Given the description of an element on the screen output the (x, y) to click on. 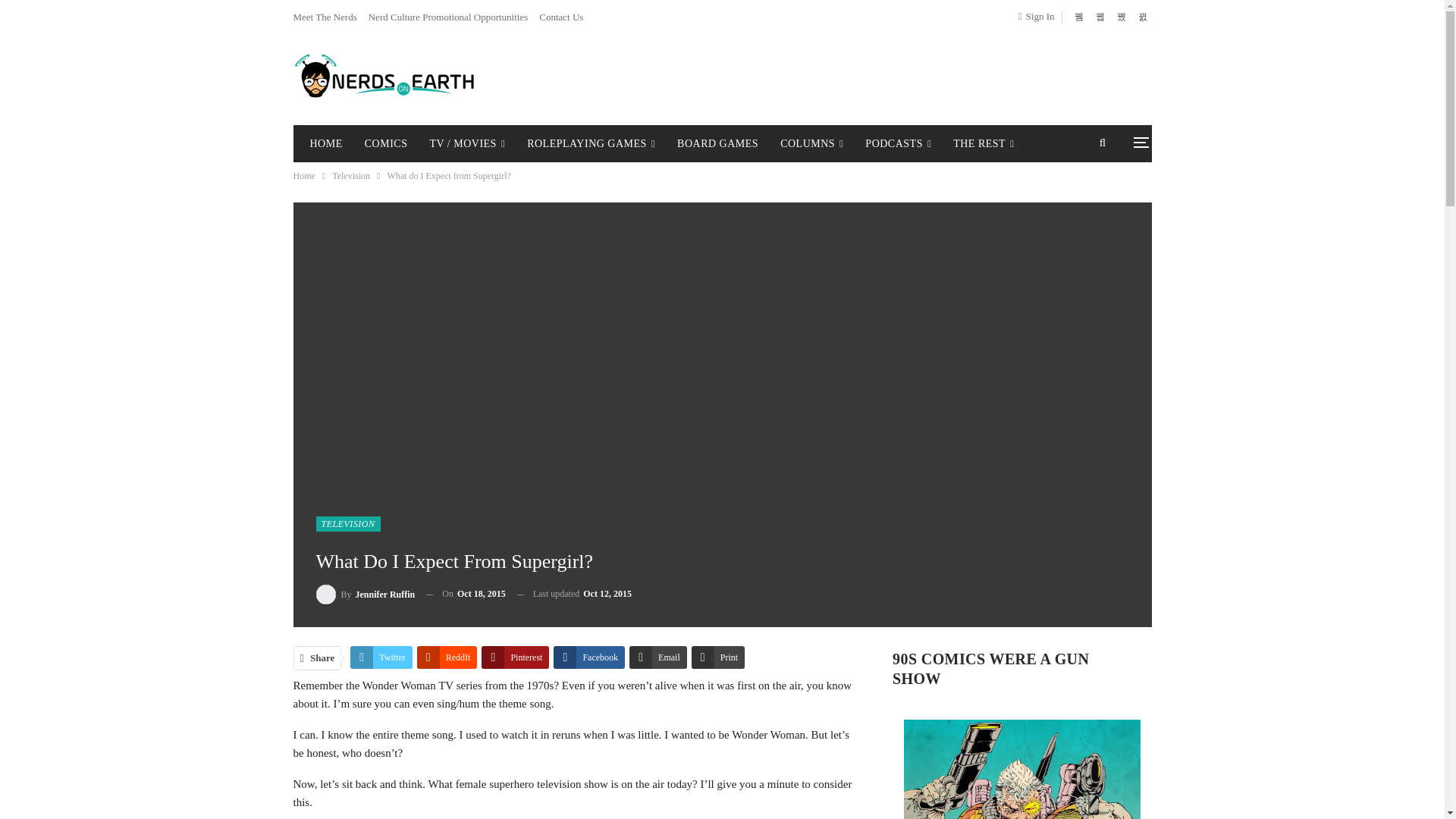
COLUMNS (811, 144)
BOARD GAMES (717, 144)
THE REST (983, 144)
PODCASTS (898, 144)
3rd party ad content (866, 75)
HOME (324, 144)
Meet The Nerds (324, 16)
ROLEPLAYING GAMES (590, 144)
Sign In (1039, 16)
COMICS (385, 144)
Nerd Culture Promotional Opportunities (448, 16)
Browse Author Articles (364, 593)
Contact Us (560, 16)
